Given the description of an element on the screen output the (x, y) to click on. 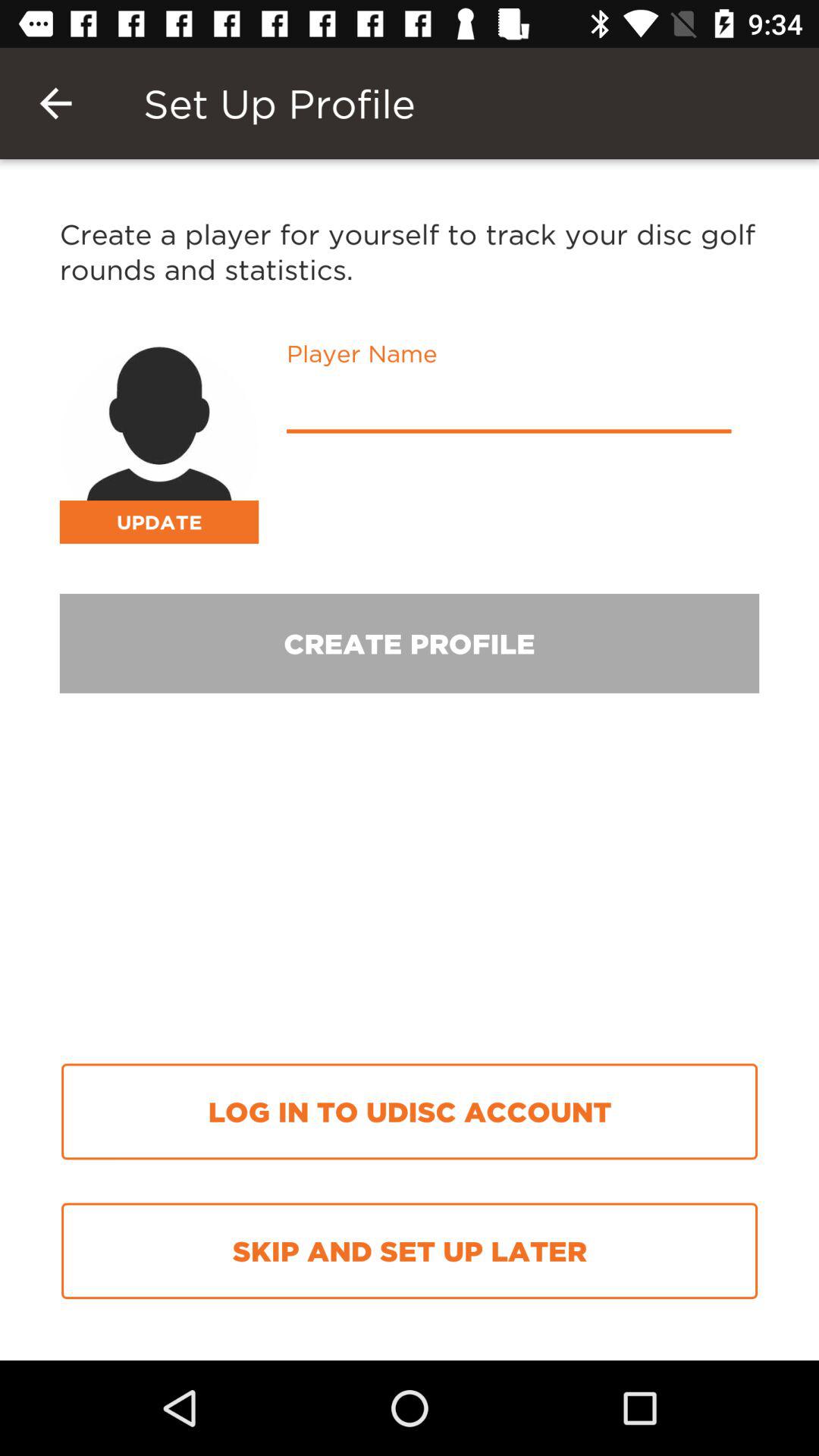
profile picture (158, 443)
